Given the description of an element on the screen output the (x, y) to click on. 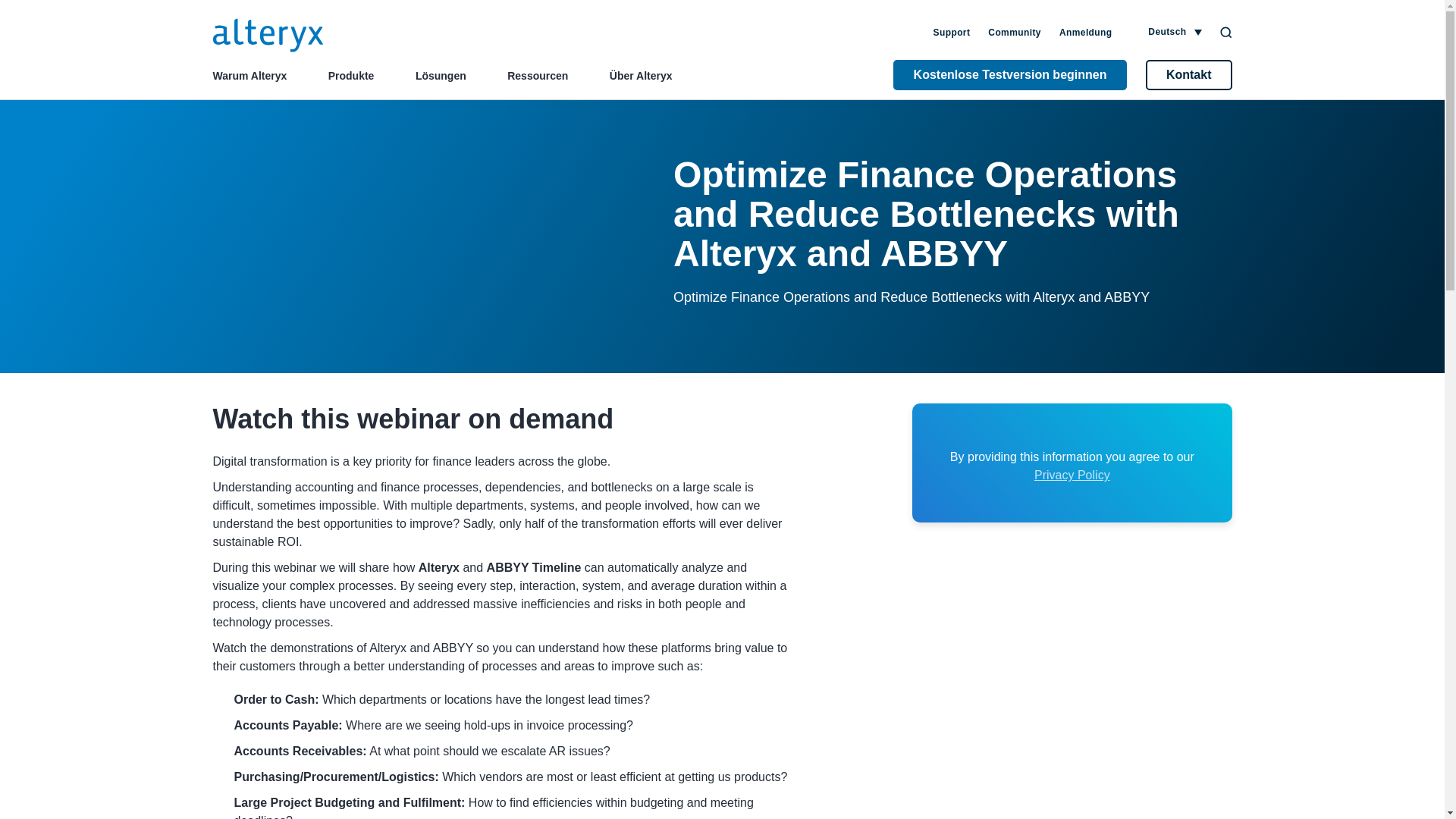
Support (952, 31)
Kostenlose Testversion beginnen (1009, 74)
Kontakt (1188, 74)
Warum Alteryx (249, 75)
Anmeldung (1085, 31)
Ressourcen (536, 75)
Deutsch (1173, 31)
Community (1014, 31)
Produkte (351, 75)
